Given the description of an element on the screen output the (x, y) to click on. 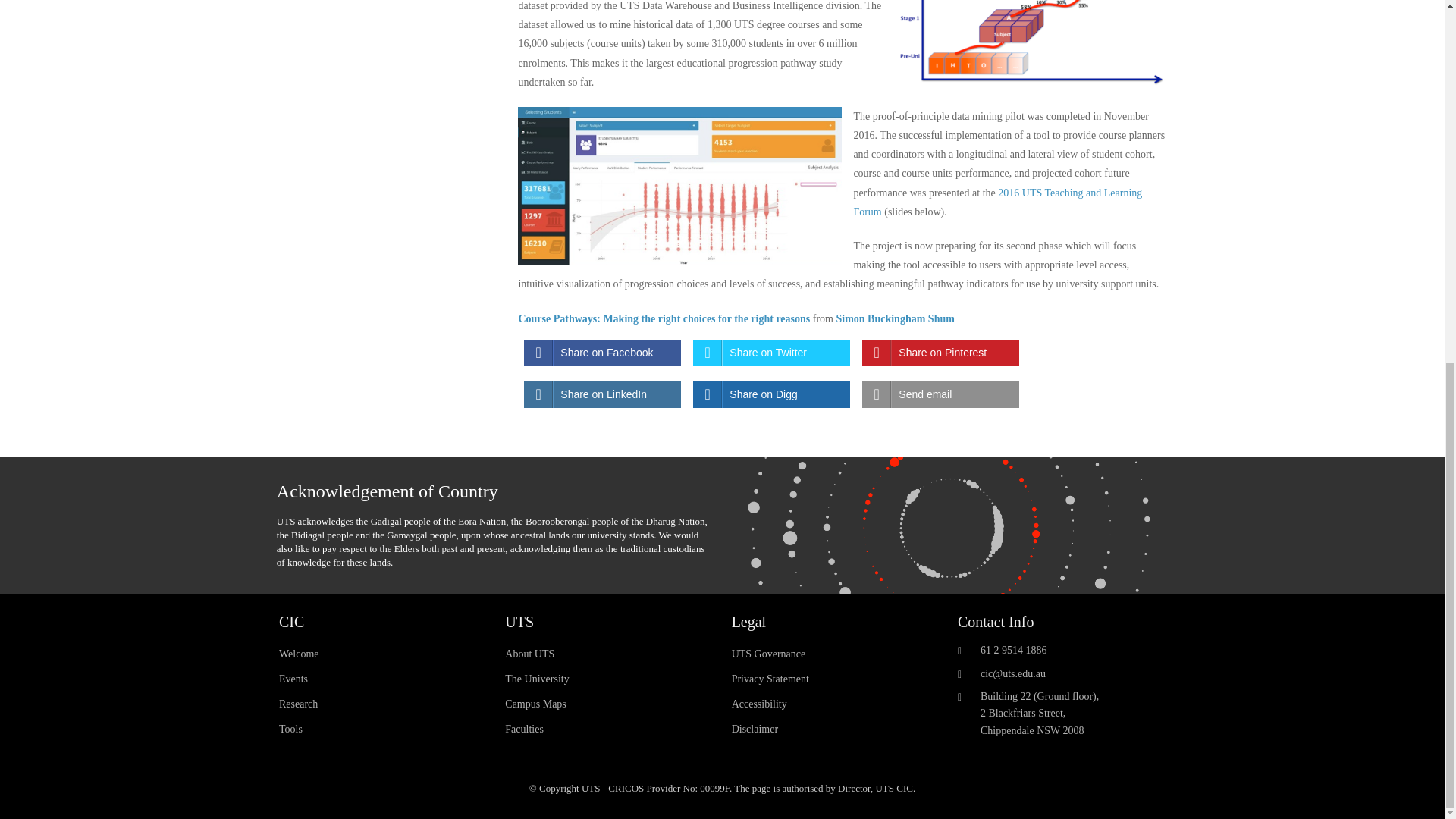
Share on Twitter (771, 352)
Share on Digg (771, 394)
Share on Facebook (602, 352)
Share it on Email (940, 394)
Share on LinkedIn (602, 394)
Share on Pinterest (940, 352)
